Given the description of an element on the screen output the (x, y) to click on. 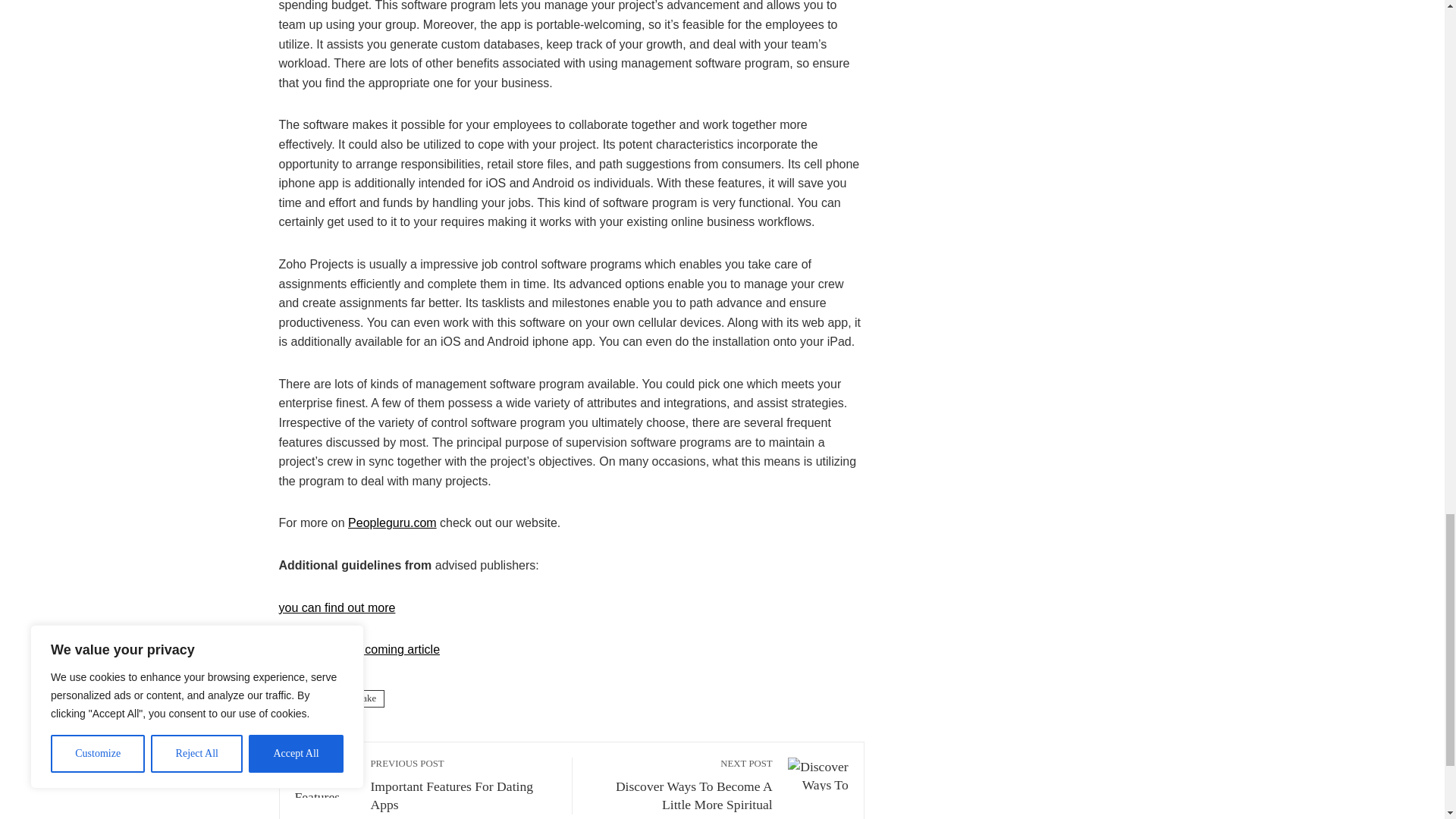
Peopleguru.com (462, 785)
you can find out more (391, 522)
just click the up coming article (680, 785)
